Given the description of an element on the screen output the (x, y) to click on. 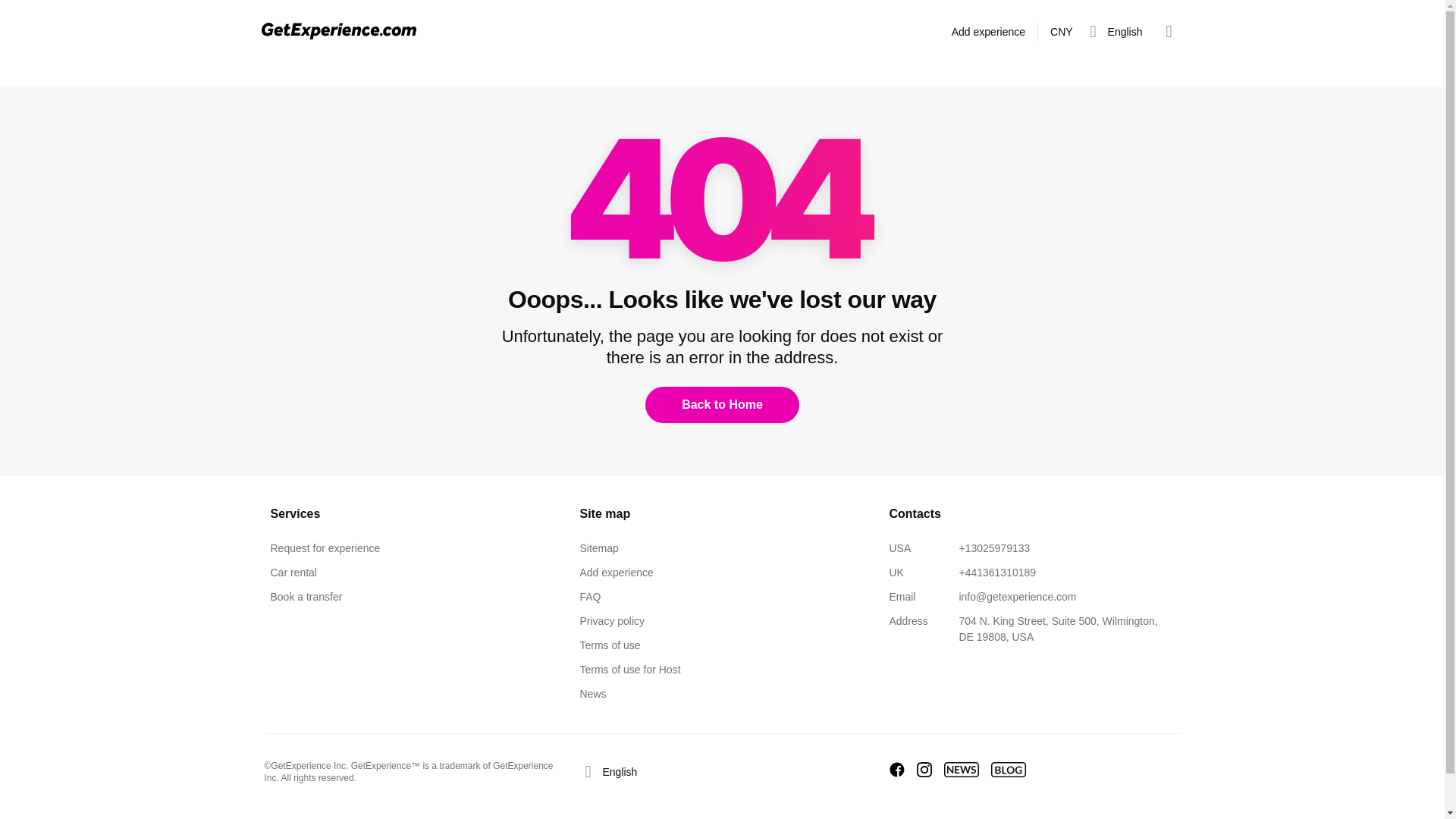
FAQ (589, 599)
Back to Home (722, 404)
CNY (1060, 31)
Request for experience (324, 550)
English (1113, 31)
Terms of use (609, 648)
Terms of use for Host (629, 672)
Add experience (615, 575)
Privacy policy (612, 623)
Car rental (292, 575)
